Given the description of an element on the screen output the (x, y) to click on. 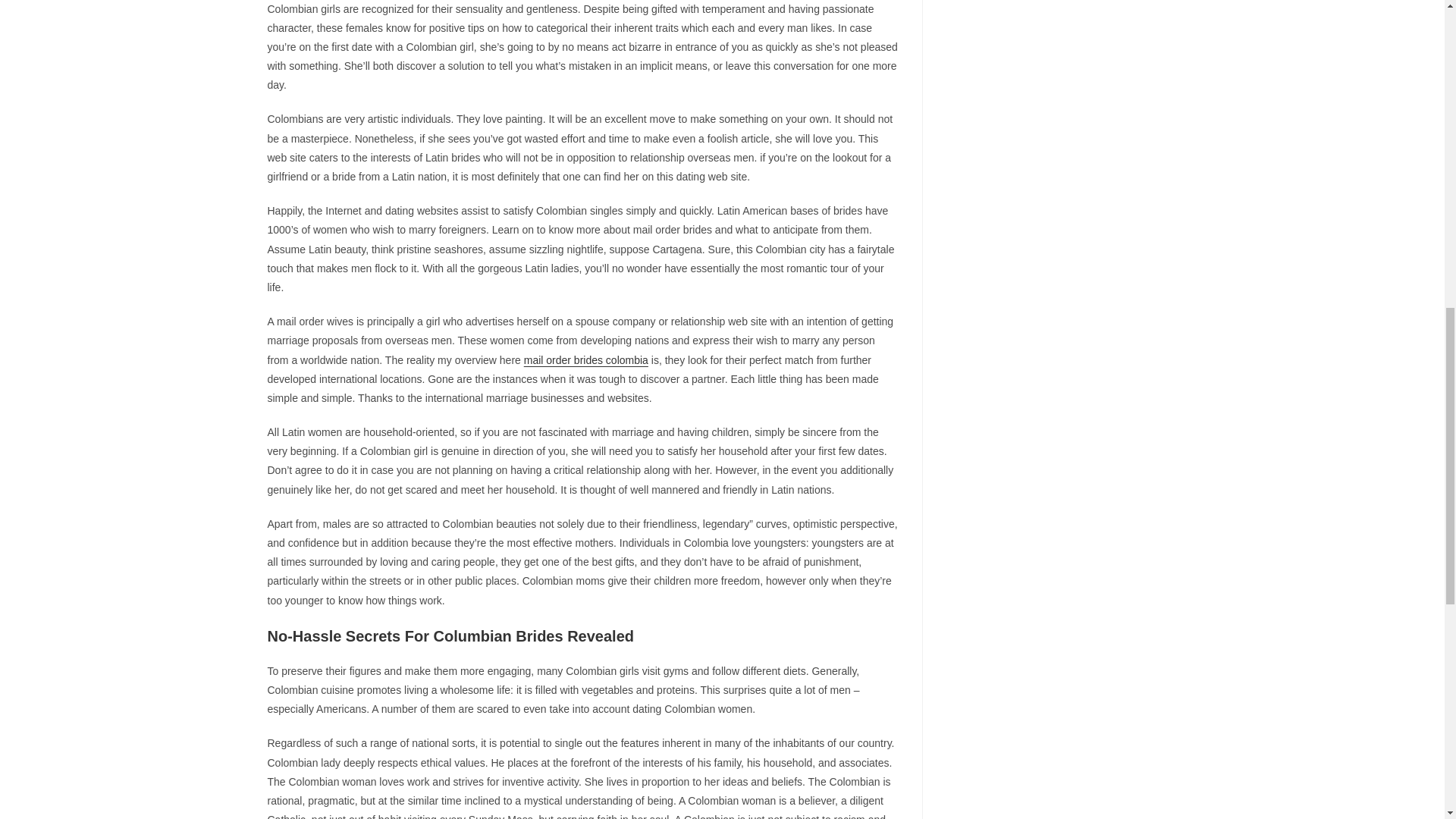
mail order brides colombia (585, 358)
